Given the description of an element on the screen output the (x, y) to click on. 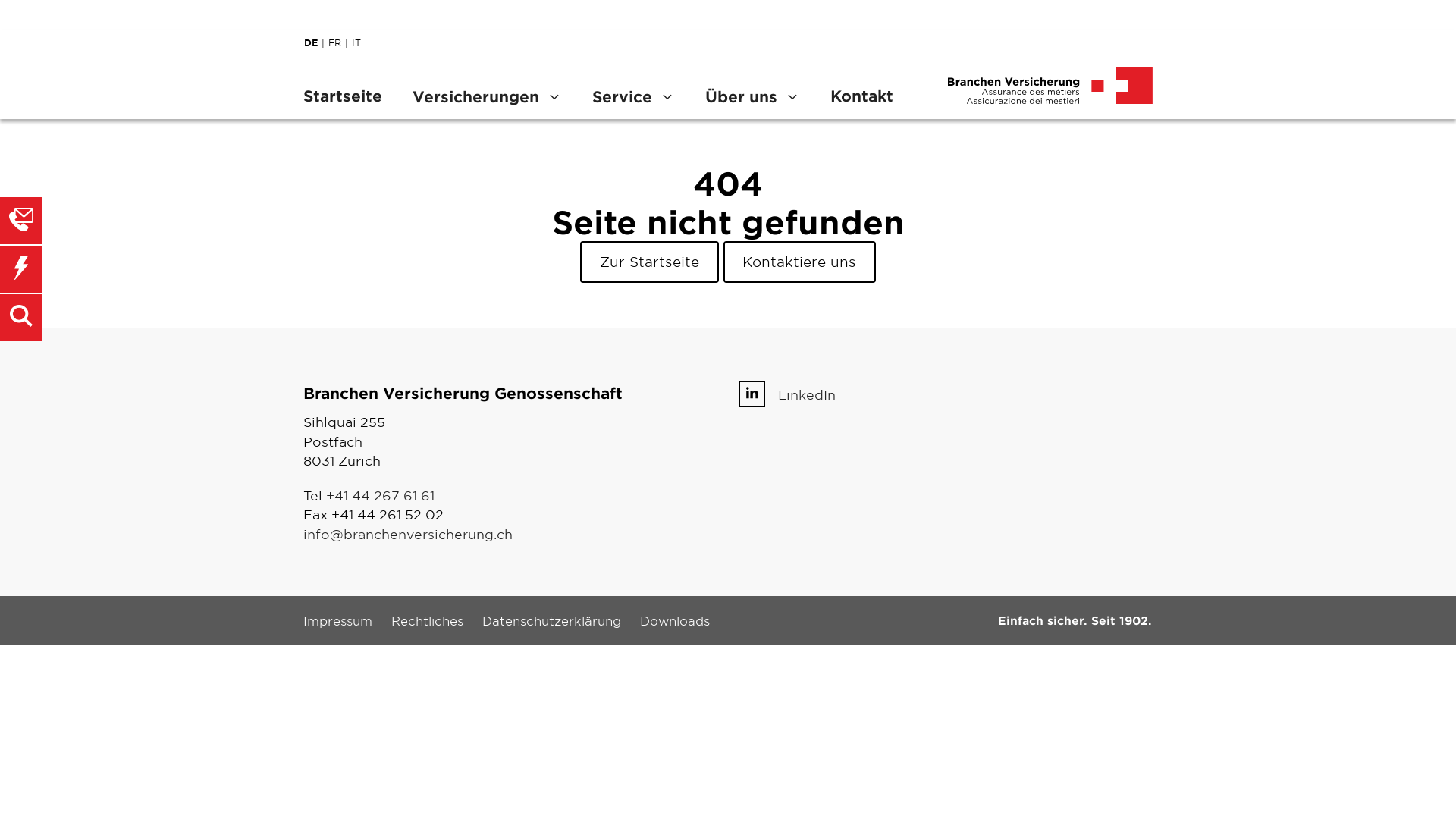
IT Element type: text (359, 42)
info@branchenversicherung.ch Element type: text (407, 533)
Impressum Element type: text (337, 619)
Rechtliches Element type: text (427, 619)
Kontakt Element type: text (861, 95)
Downloads Element type: text (674, 619)
Zur Startseite Element type: text (649, 261)
+41 44 267 61 61 Element type: text (380, 494)
Service Element type: text (633, 95)
LinkedIn Element type: text (806, 394)
Versicherungen Element type: text (487, 95)
Kontaktiere uns Element type: text (799, 261)
FR Element type: text (339, 42)
DE Element type: text (316, 42)
Startseite Element type: text (350, 95)
